Given the description of an element on the screen output the (x, y) to click on. 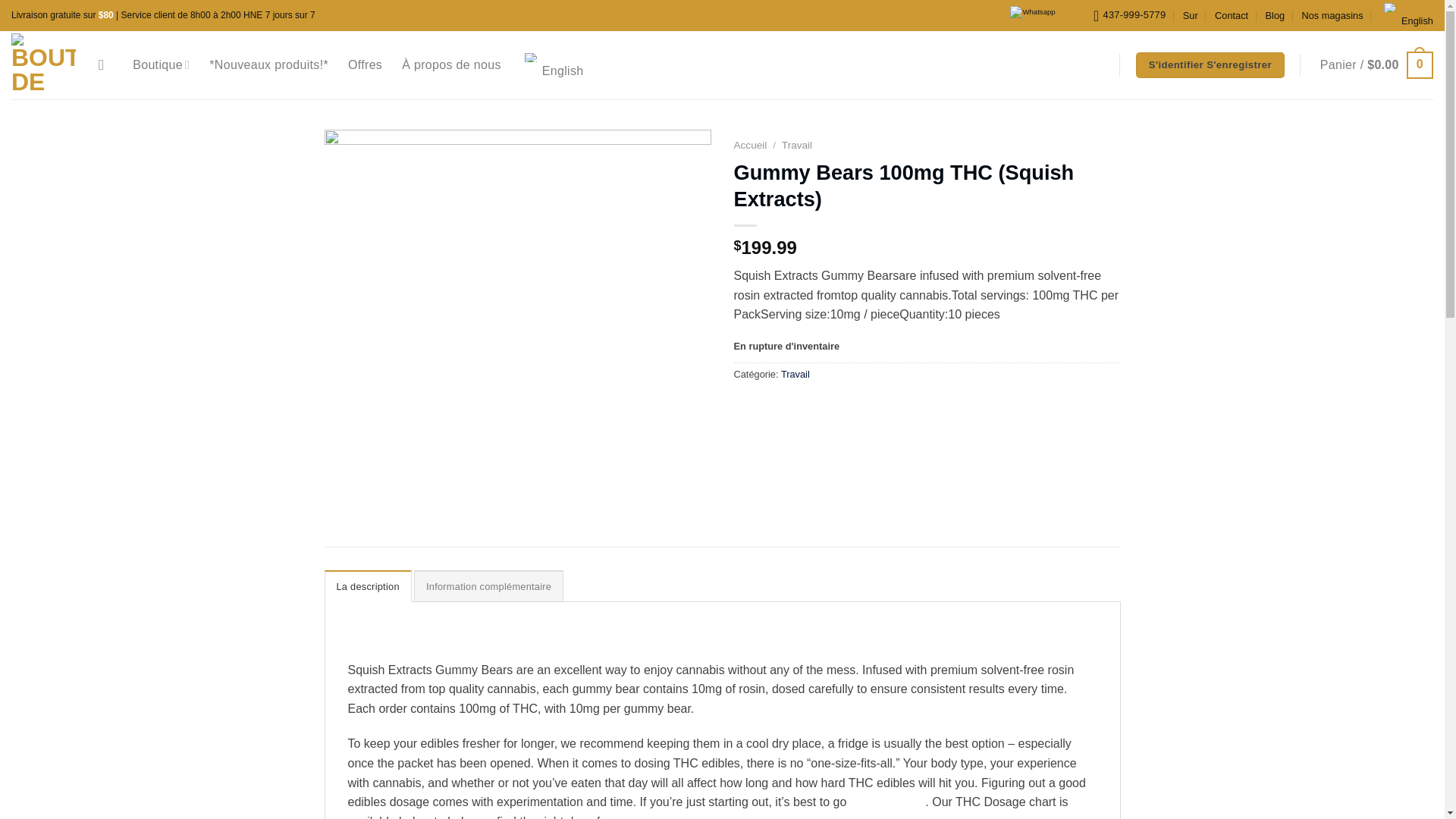
English (1390, 7)
Boutique (160, 64)
Offres (364, 64)
Blog (1275, 15)
437-999-5779 (1129, 15)
Boutique de cannabis Dank Bros (43, 65)
Nos magasins (1331, 15)
English (531, 57)
437-999-5779 (1129, 15)
English (1406, 15)
Contact (1230, 15)
